Given the description of an element on the screen output the (x, y) to click on. 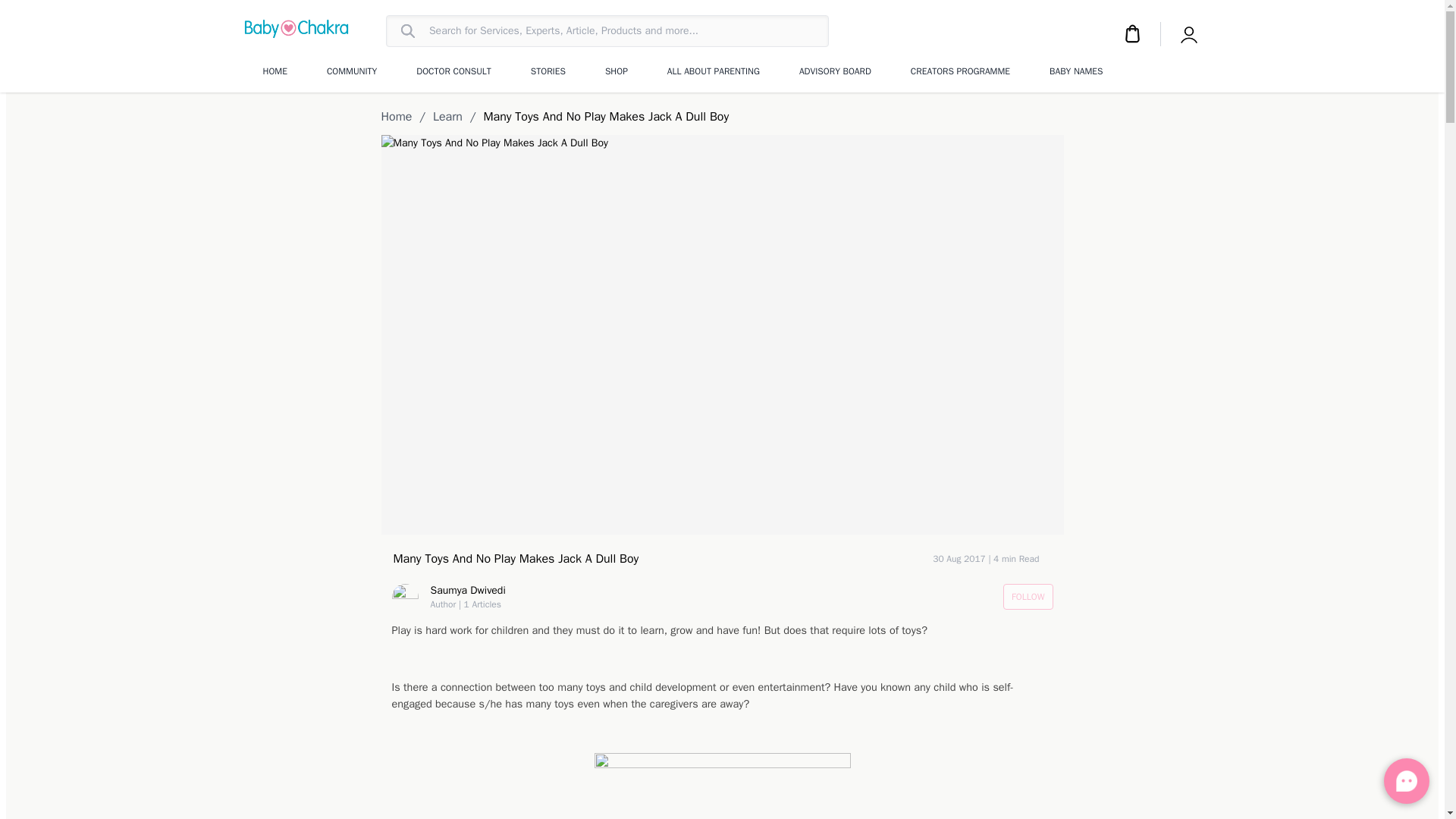
CREATORS PROGRAMME (959, 71)
COMMUNITY (351, 71)
ALL ABOUT PARENTING (713, 71)
STORIES (548, 71)
ADVISORY BOARD (834, 71)
DOCTOR CONSULT (453, 71)
